Given the description of an element on the screen output the (x, y) to click on. 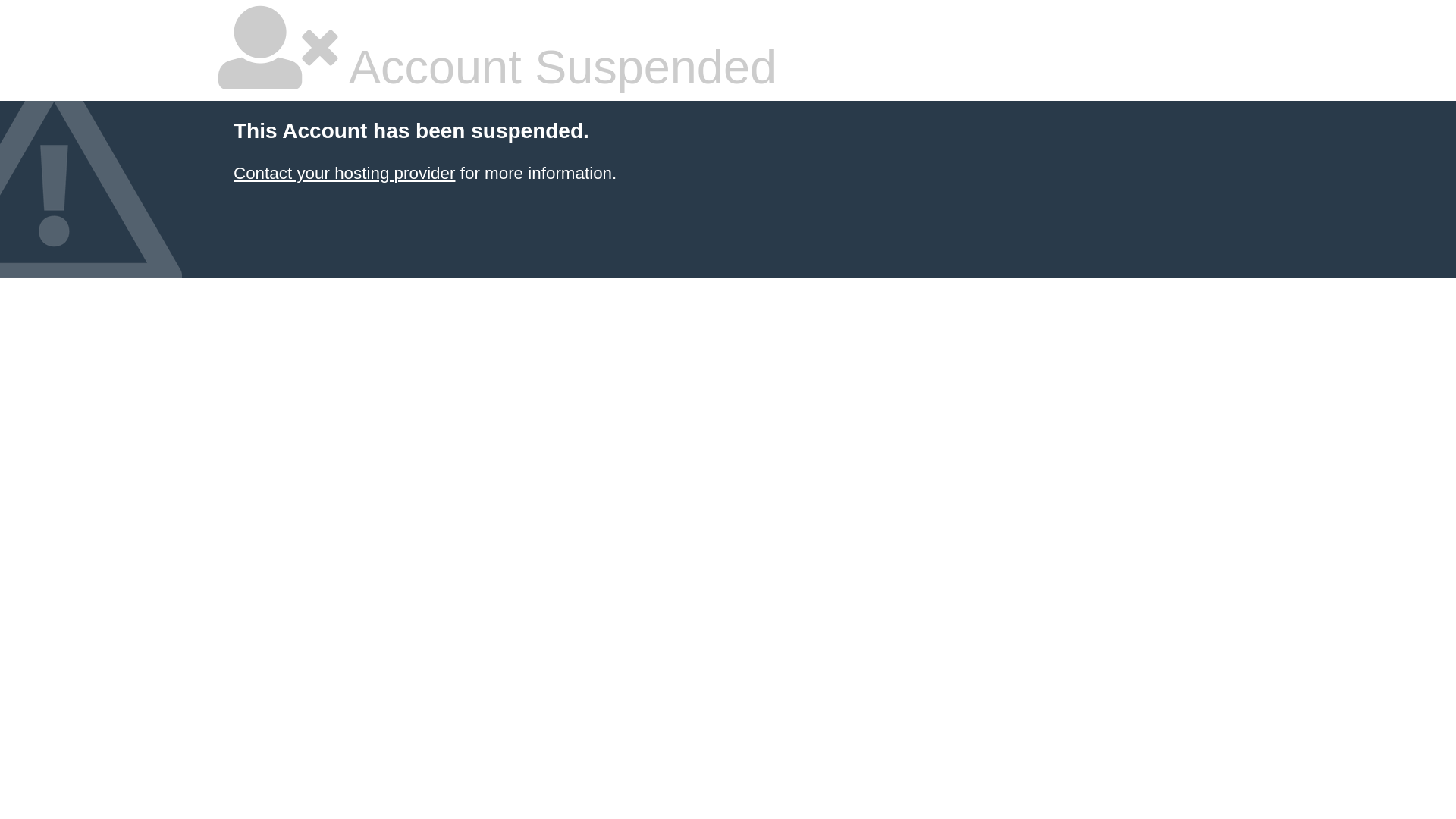
Contact your hosting provider Element type: text (344, 172)
